Given the description of an element on the screen output the (x, y) to click on. 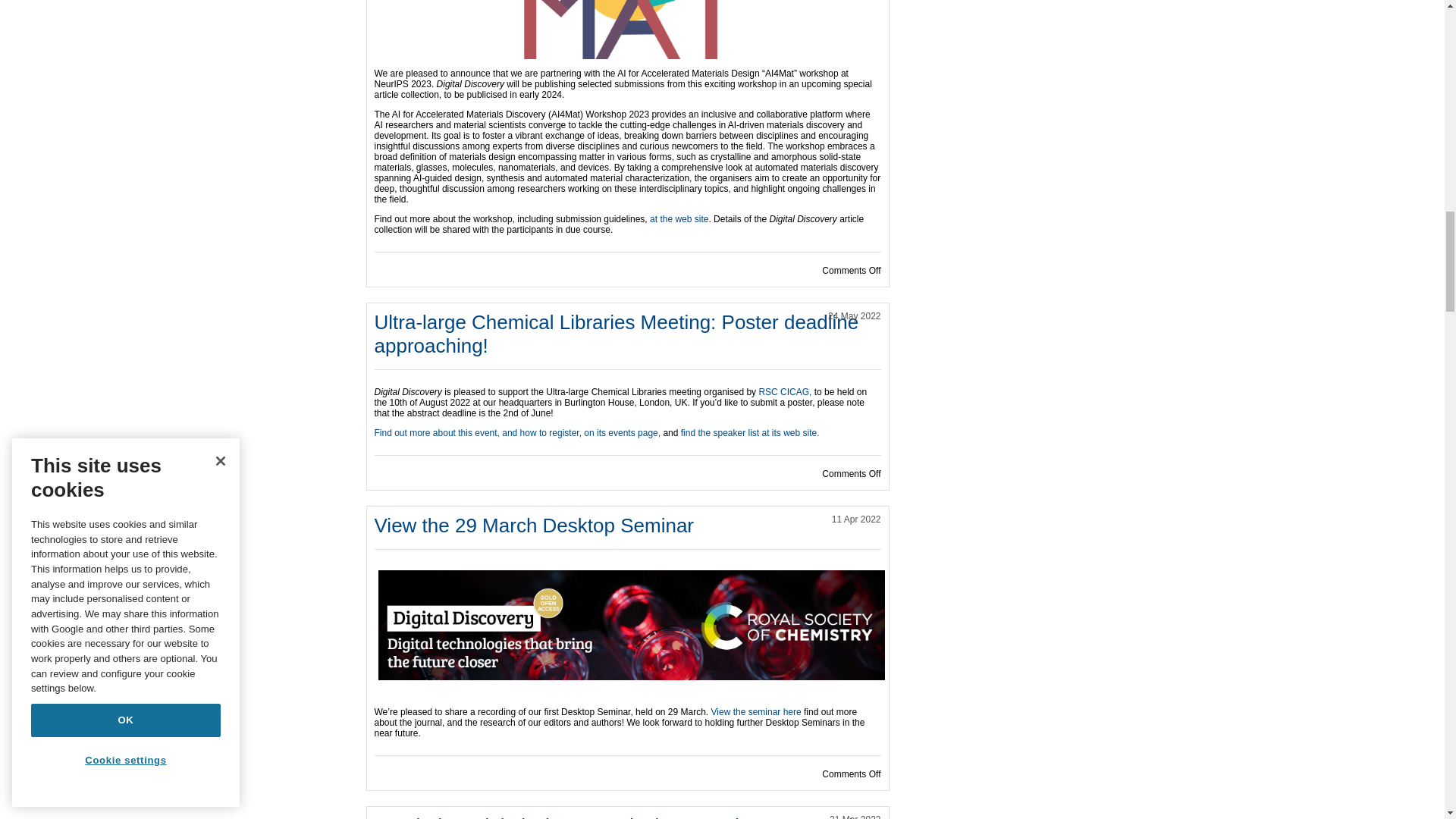
View the 29 March Desktop Seminar (534, 525)
find the speaker list at its web site. (750, 432)
at the web site (678, 218)
Permanent Link to View the 29 March Desktop Seminar (534, 525)
View the seminar here (756, 711)
RSC CICAG, (784, 391)
